Given the description of an element on the screen output the (x, y) to click on. 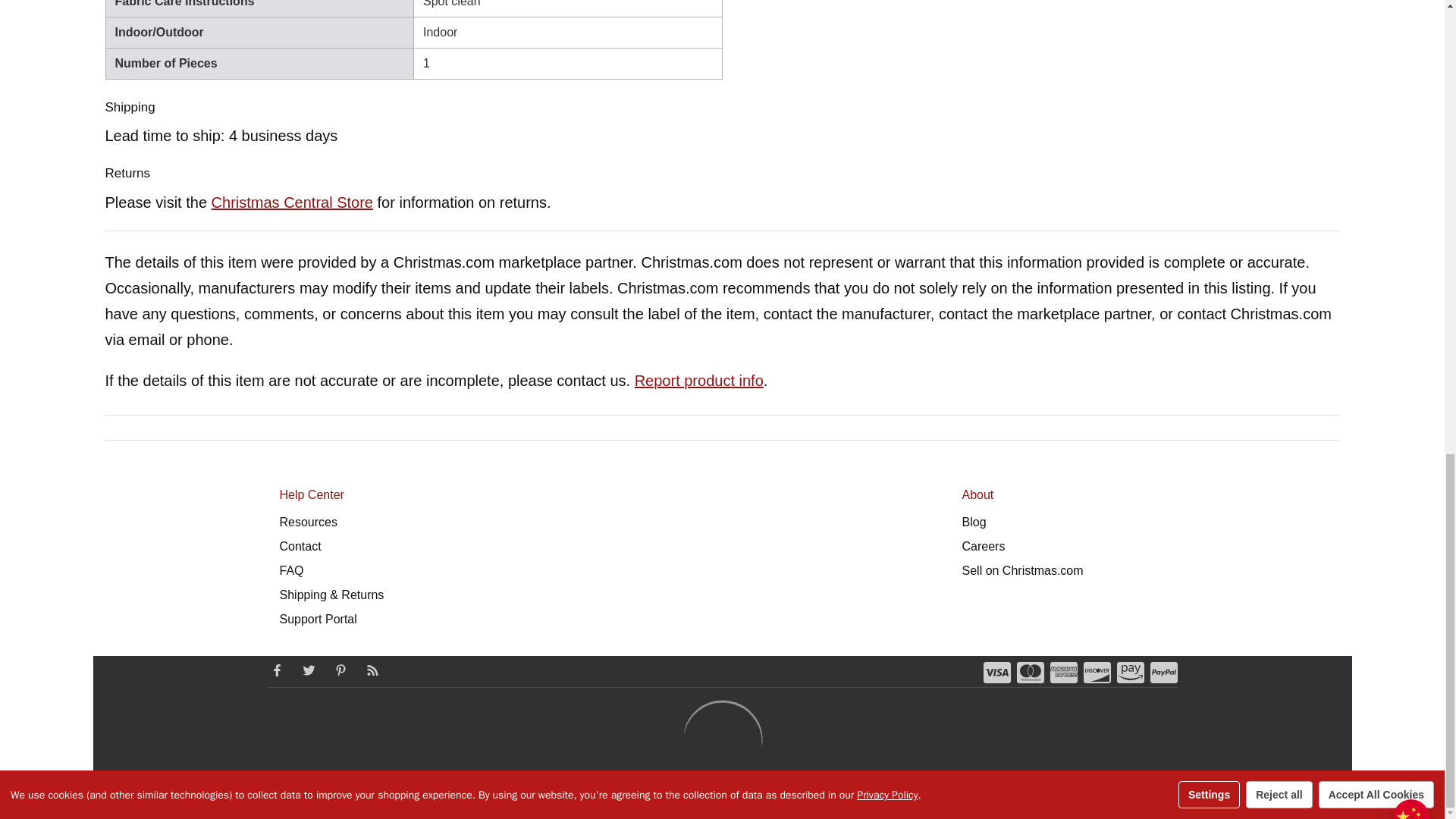
PayPal (1163, 672)
Discover (1096, 672)
Visa (996, 672)
Discover (1096, 672)
MasterCard (1029, 672)
Amazon Pay (1129, 672)
Amazon Pay (1129, 672)
Visa (996, 672)
MasterCard (1029, 672)
PayPal (1163, 672)
American Express (1063, 672)
American Express (1063, 672)
